Given the description of an element on the screen output the (x, y) to click on. 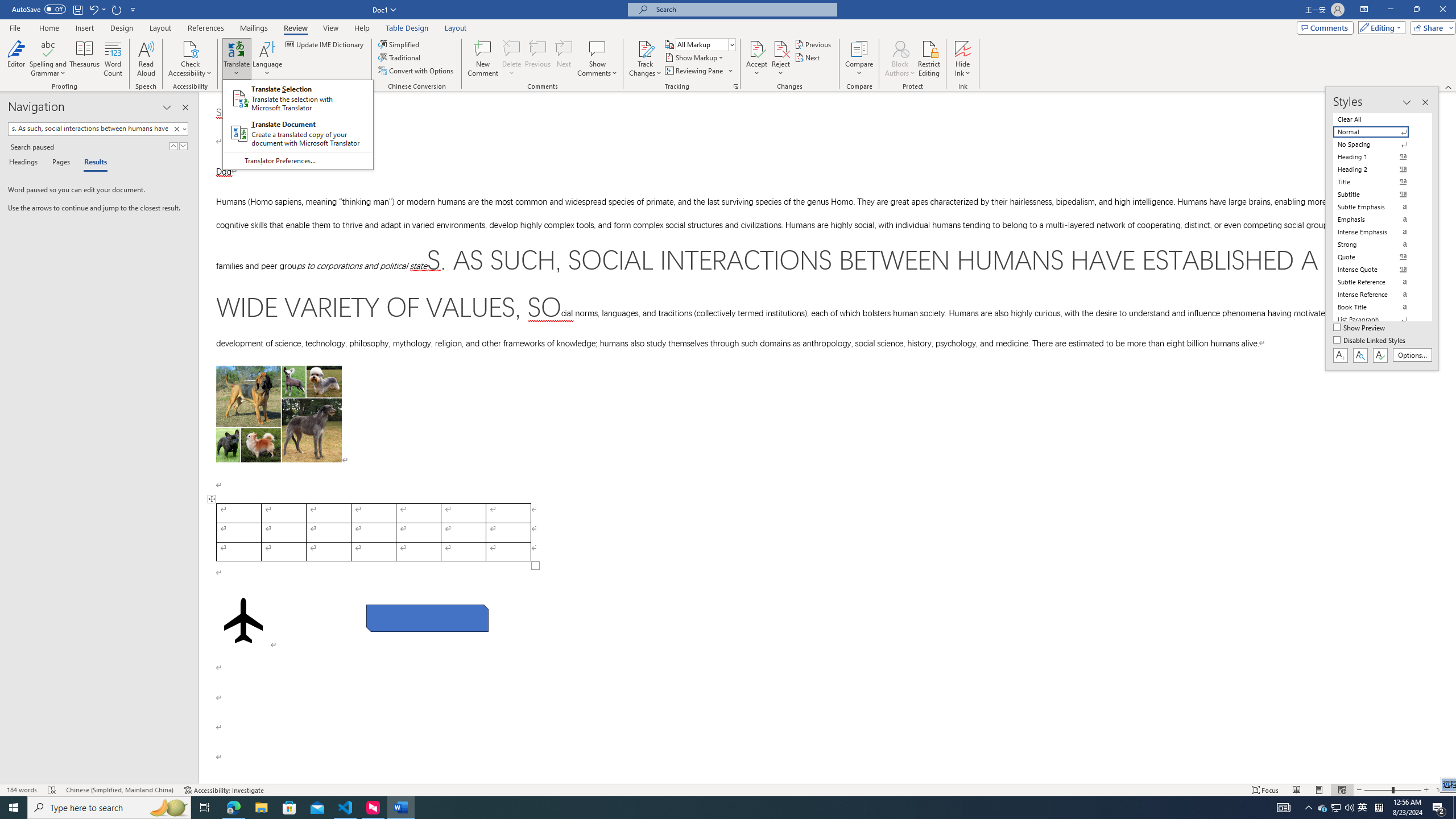
Title (1377, 182)
User Promoted Notification Area (1336, 807)
Undo Style (96, 9)
Zoom 100% (1443, 790)
Intense Quote (1377, 269)
Simplified (400, 44)
Q2790: 100% (1349, 807)
